Given the description of an element on the screen output the (x, y) to click on. 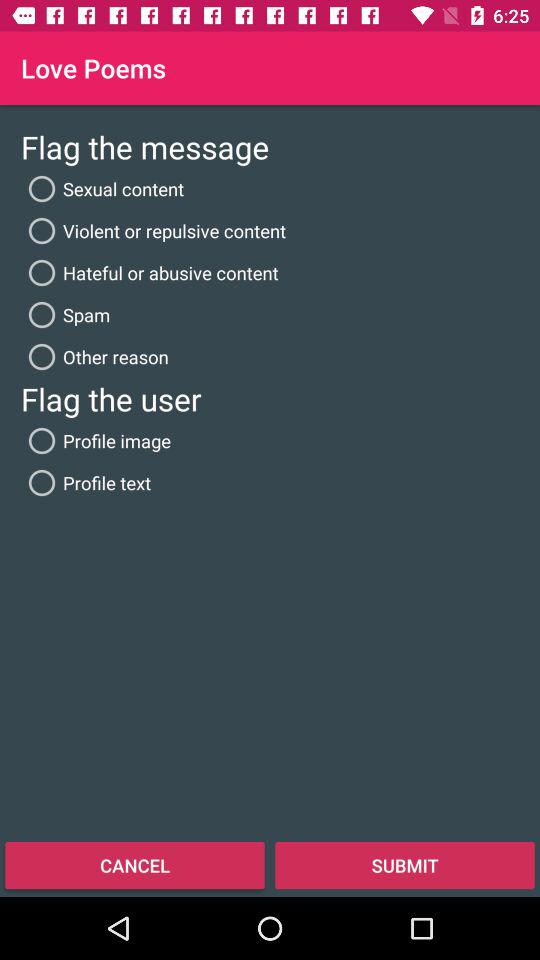
scroll to submit icon (405, 864)
